Given the description of an element on the screen output the (x, y) to click on. 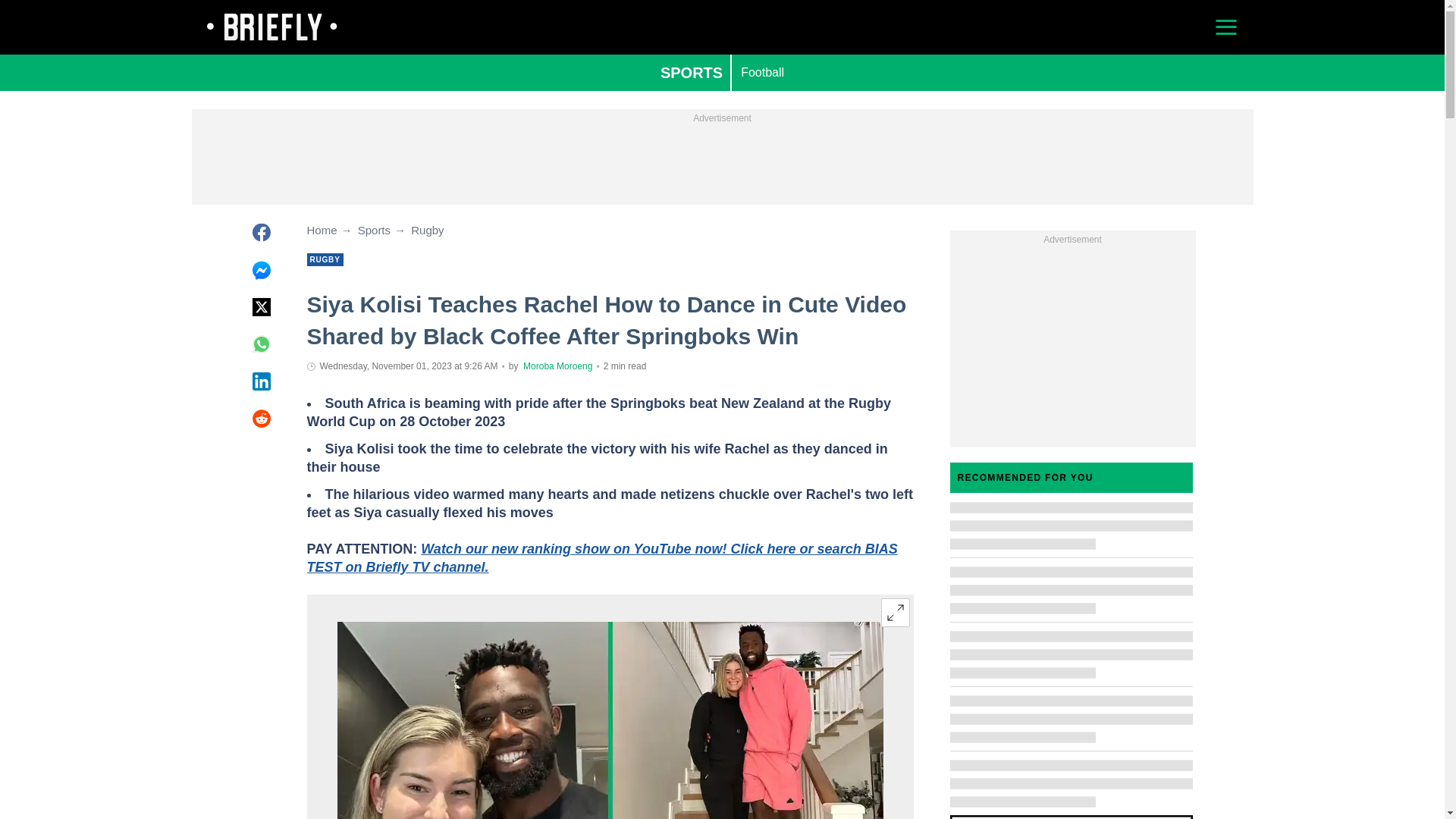
Football (762, 72)
SPORTS (691, 72)
Expand image (895, 612)
Author page (557, 366)
